Given the description of an element on the screen output the (x, y) to click on. 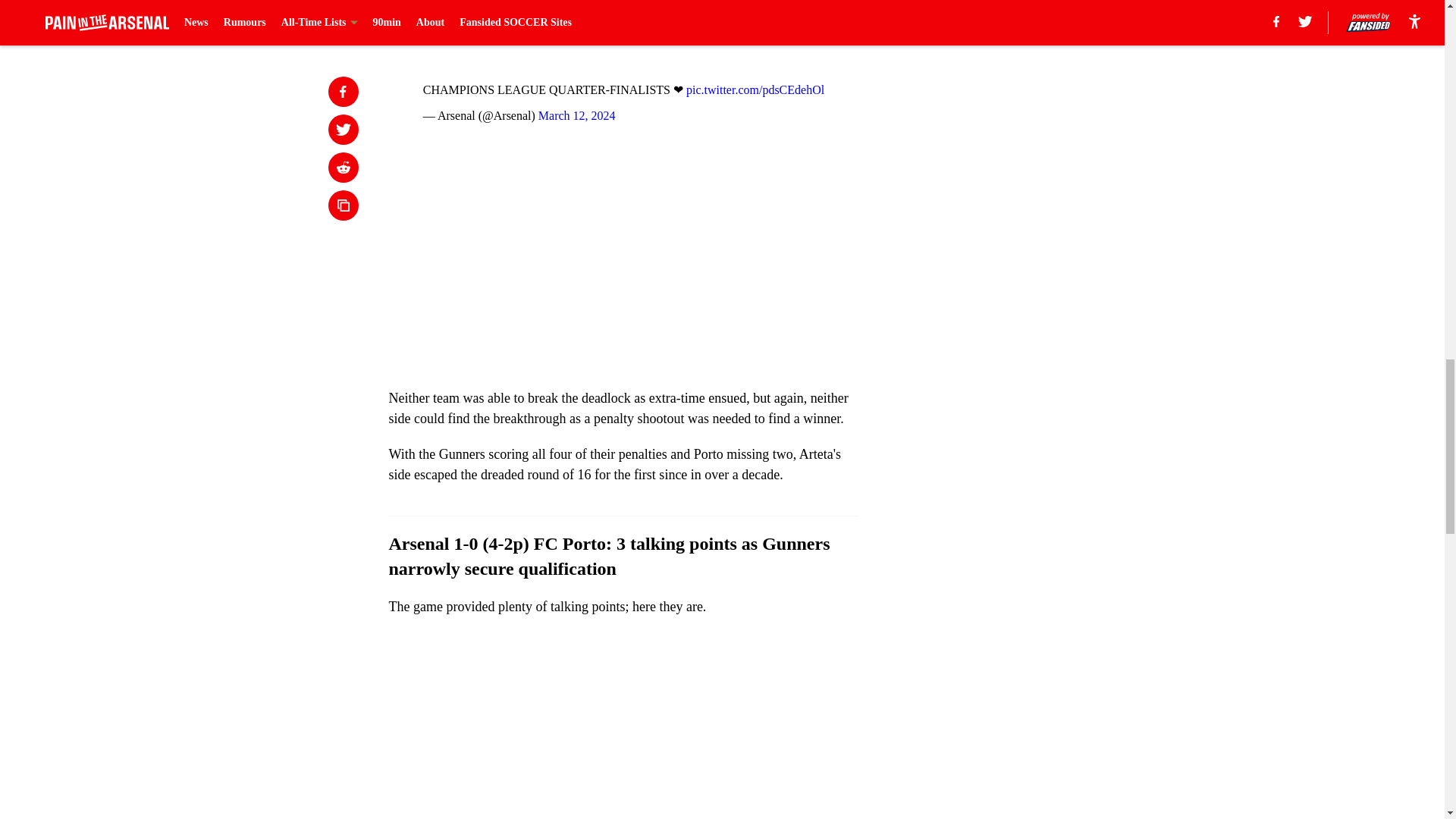
March 12, 2024 (576, 115)
